Given the description of an element on the screen output the (x, y) to click on. 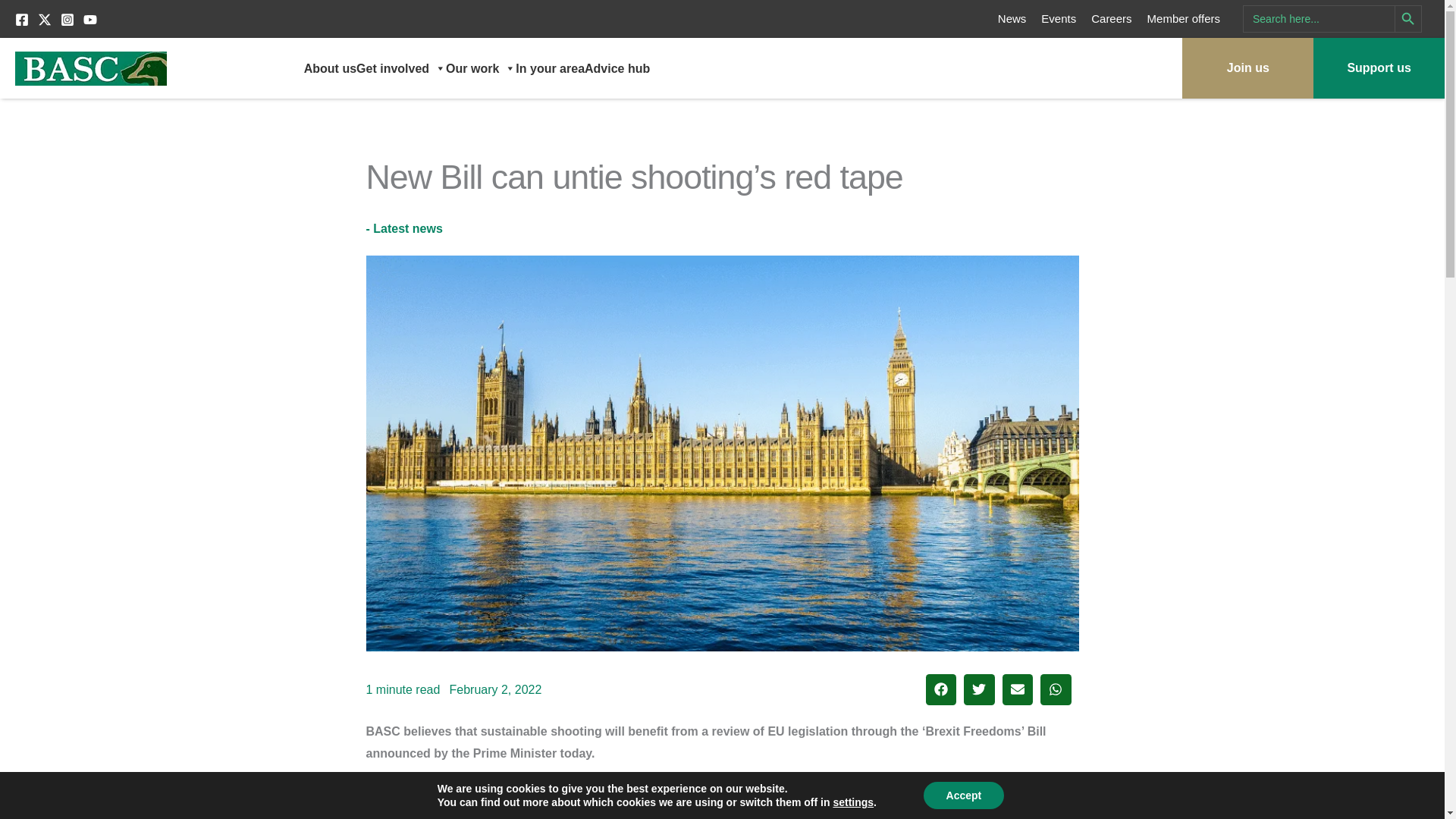
Get involved (400, 68)
Careers (1110, 18)
About us (330, 68)
Member offers (1183, 18)
News (1011, 18)
Events (1058, 18)
Search Button (1408, 18)
